Given the description of an element on the screen output the (x, y) to click on. 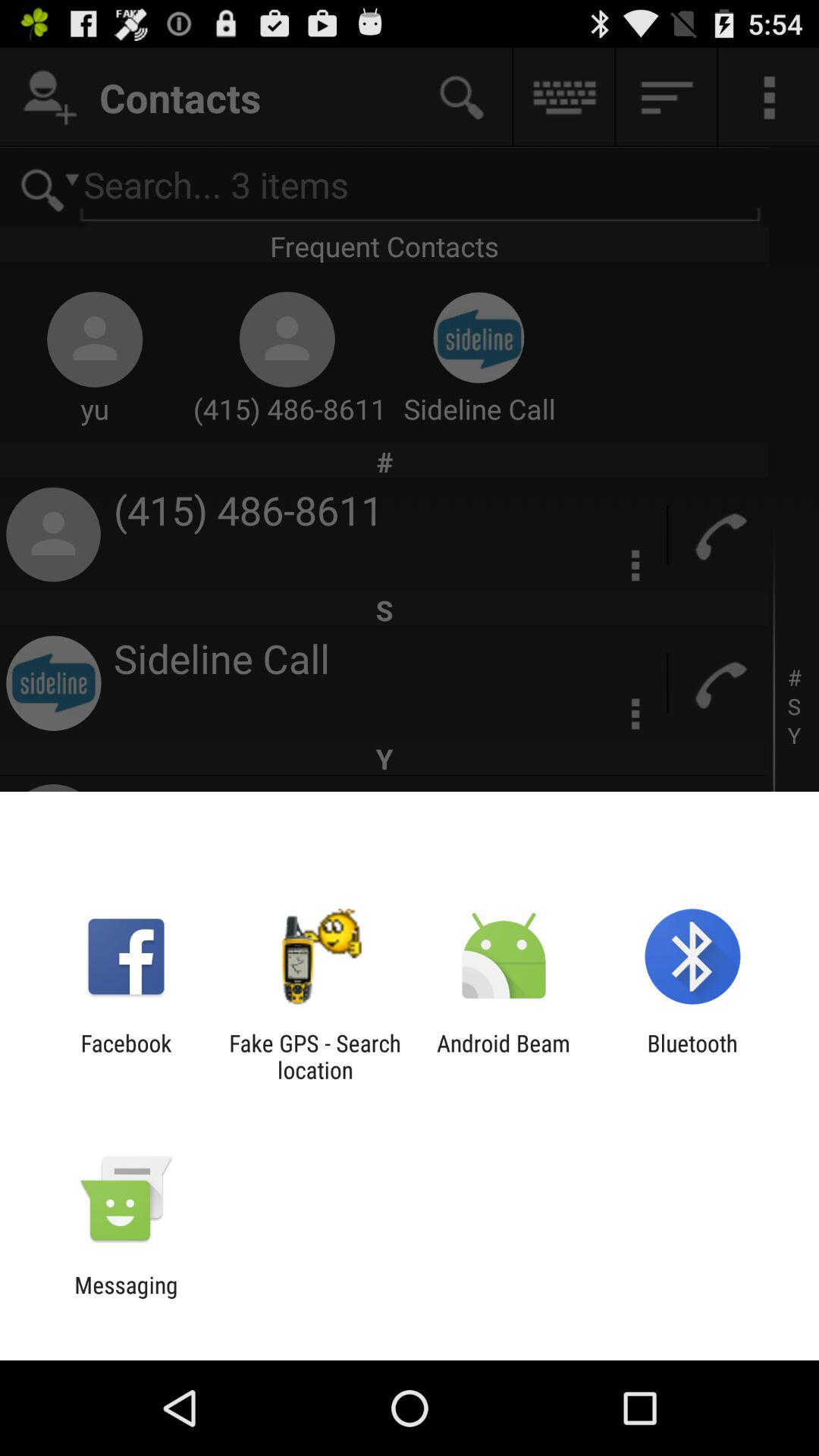
press the item to the left of bluetooth item (503, 1056)
